Given the description of an element on the screen output the (x, y) to click on. 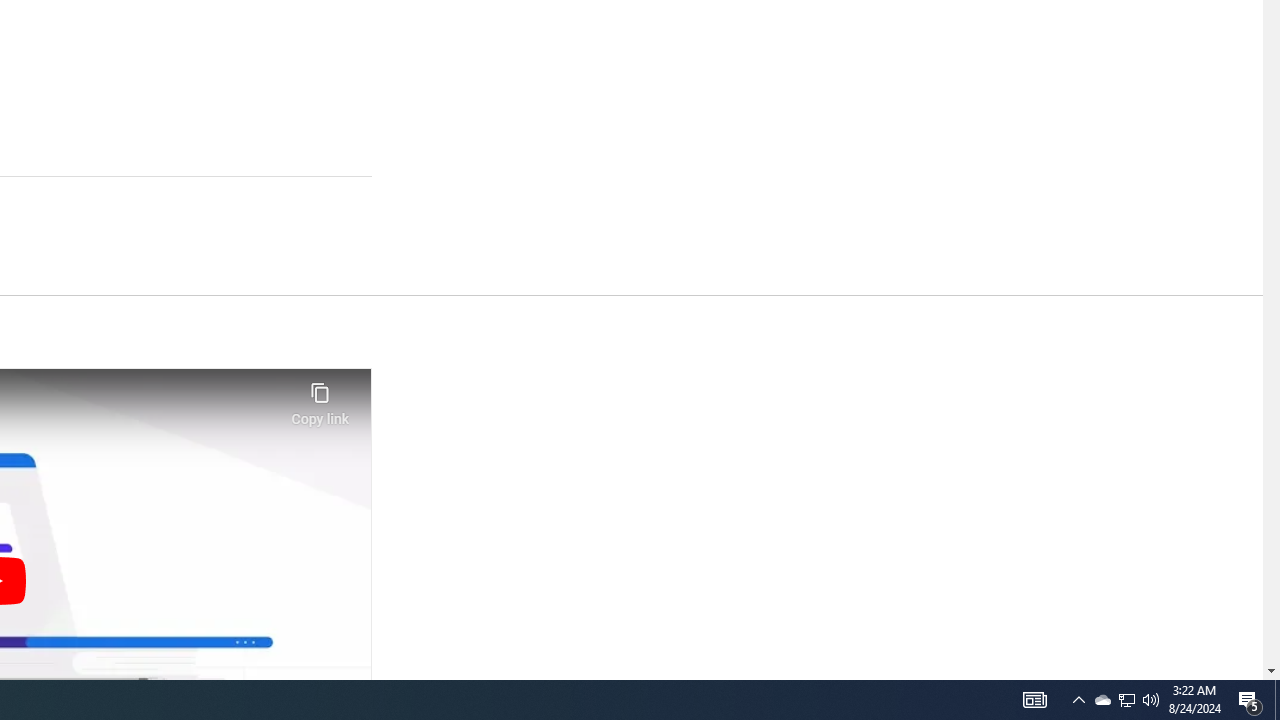
Copy link (319, 398)
